Given the description of an element on the screen output the (x, y) to click on. 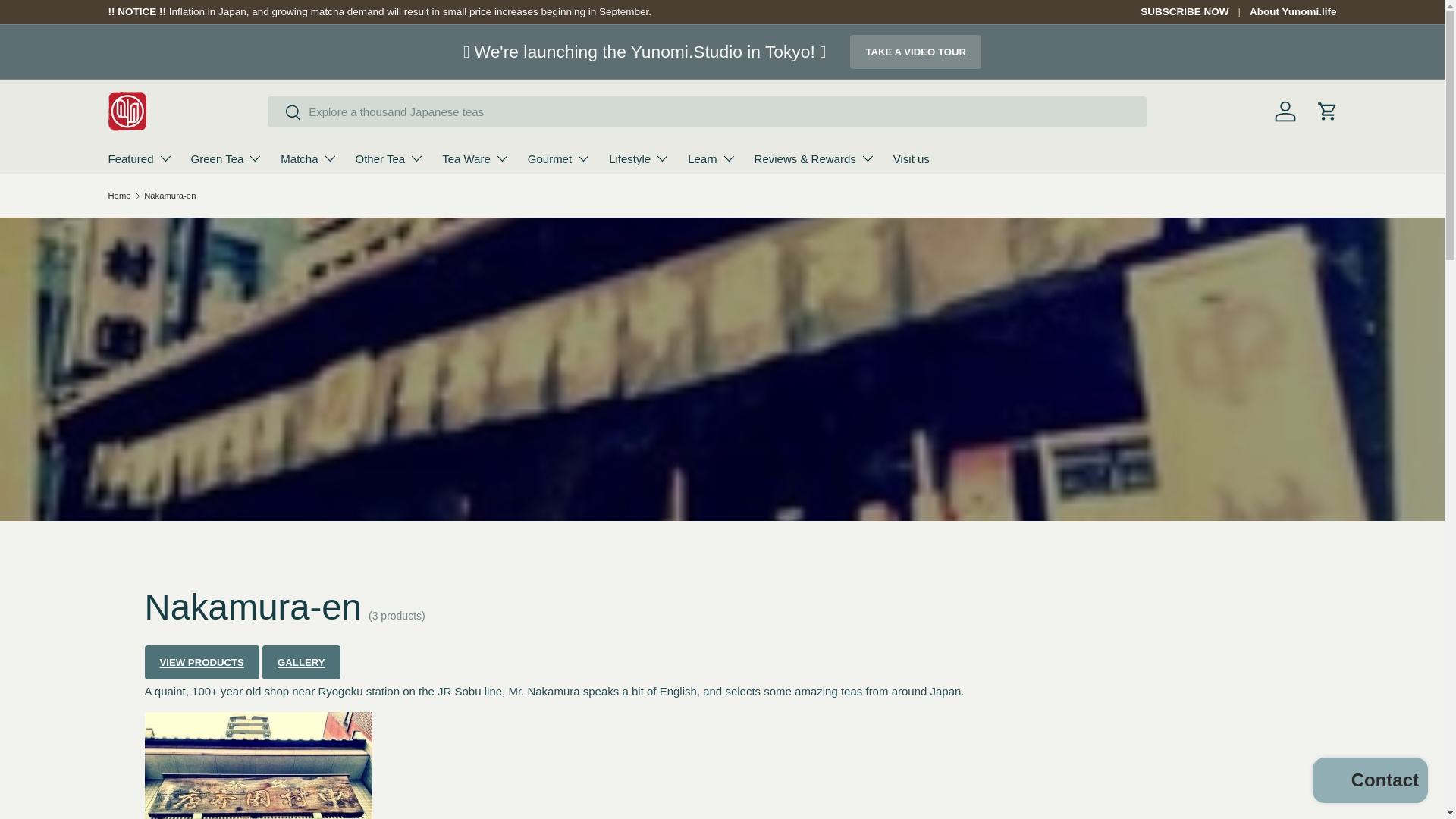
TAKE A VIDEO TOUR (915, 51)
SUBSCRIBE NOW (1194, 11)
Search (284, 113)
Green Tea (226, 158)
Featured (139, 158)
Log in (1284, 111)
Cart (1326, 111)
SKIP TO CONTENT (63, 23)
About Yunomi.life (1292, 11)
Shopify online store chat (1369, 781)
